Given the description of an element on the screen output the (x, y) to click on. 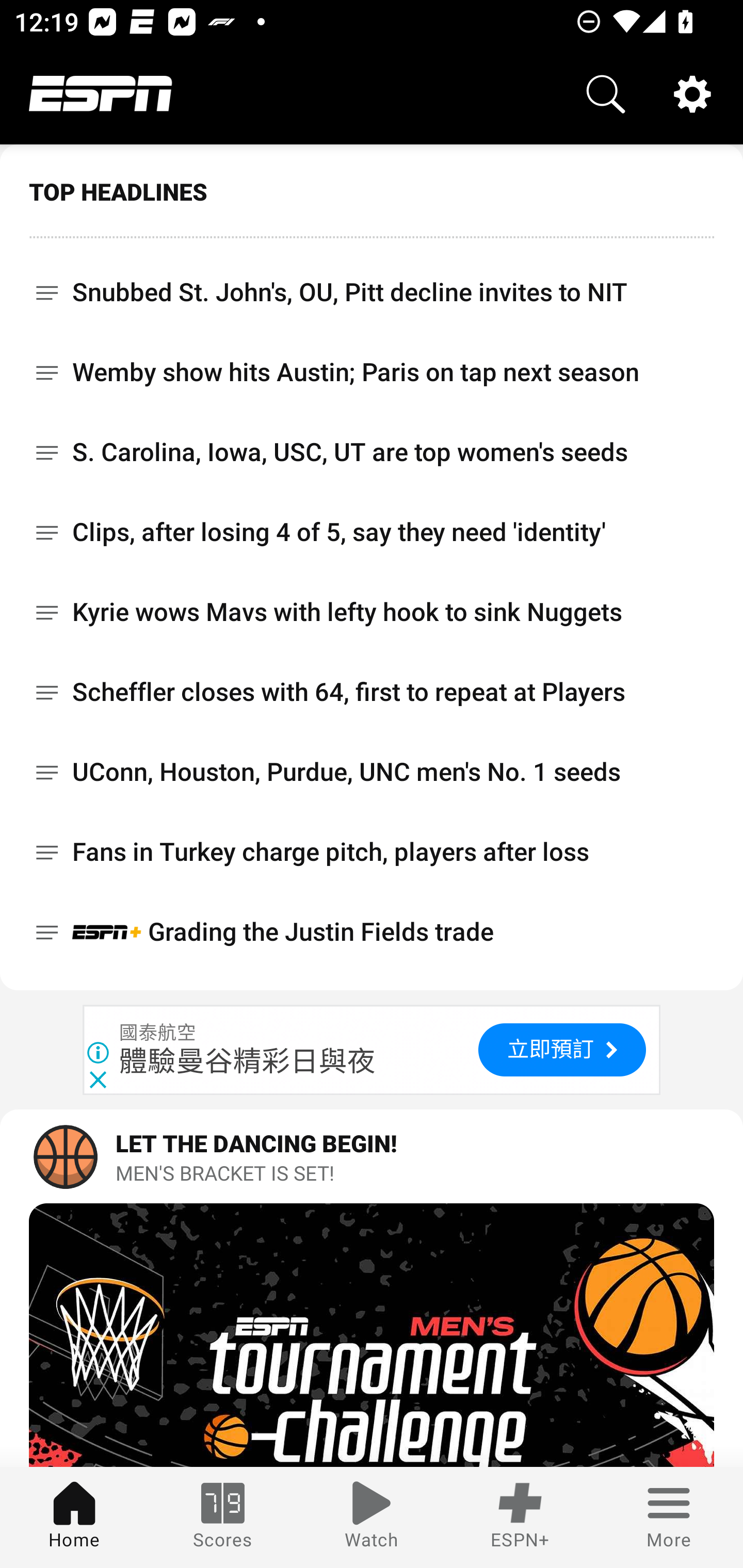
Search (605, 93)
Settings (692, 93)
 Wemby show hits Austin; Paris on tap next season (371, 372)
 S. Carolina, Iowa, USC, UT are top women's seeds (371, 452)
 Kyrie wows Mavs with lefty hook to sink Nuggets (371, 612)
 UConn, Houston, Purdue, UNC men's No. 1 seeds (371, 772)
 Fans in Turkey charge pitch, players after loss (371, 852)
國泰航空 (158, 1032)
立即預訂 (561, 1049)
體驗曼谷精彩日與夜 (247, 1061)
Scores (222, 1517)
Watch (371, 1517)
ESPN+ (519, 1517)
More (668, 1517)
